Given the description of an element on the screen output the (x, y) to click on. 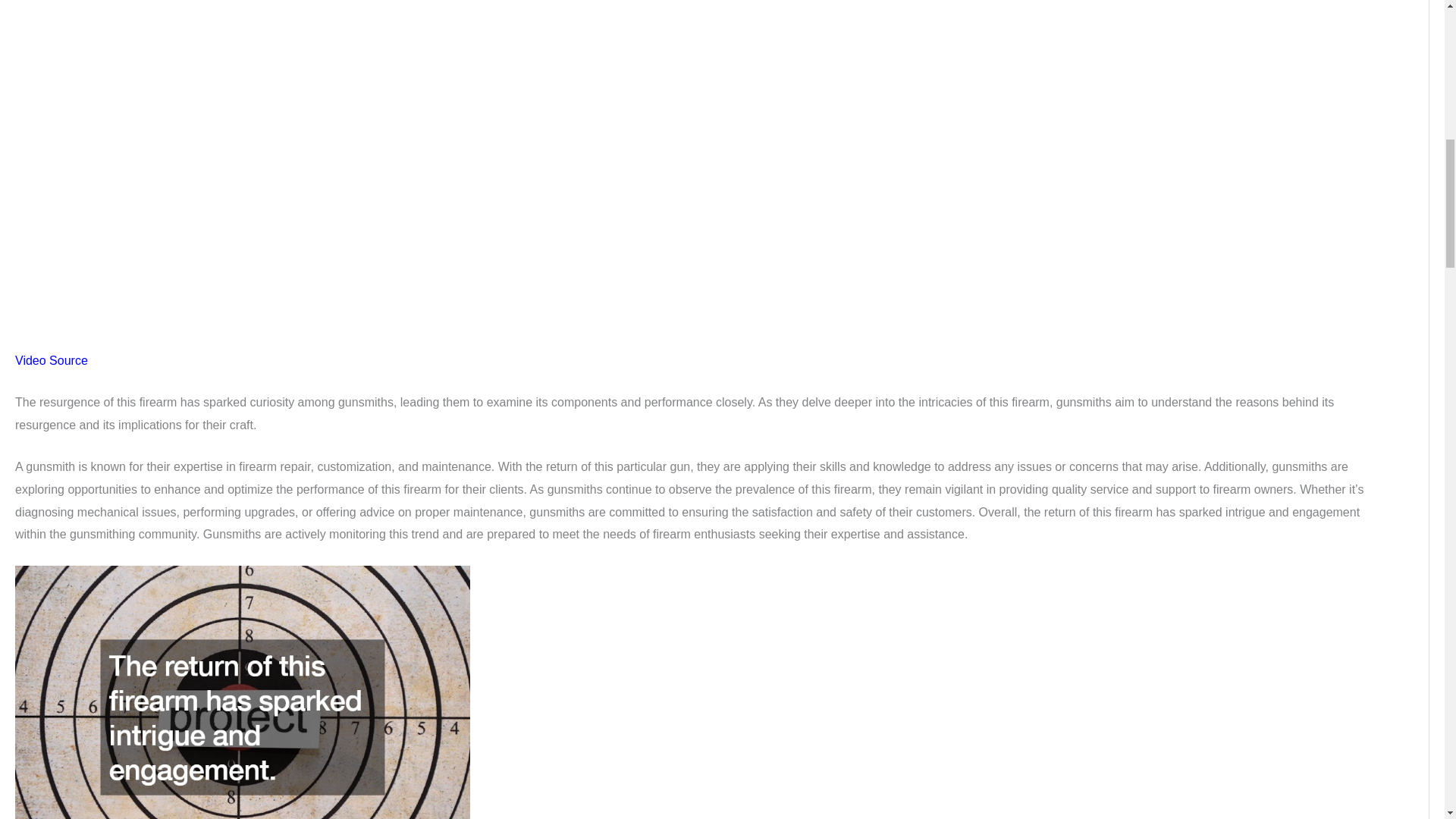
Video Source (50, 359)
